Given the description of an element on the screen output the (x, y) to click on. 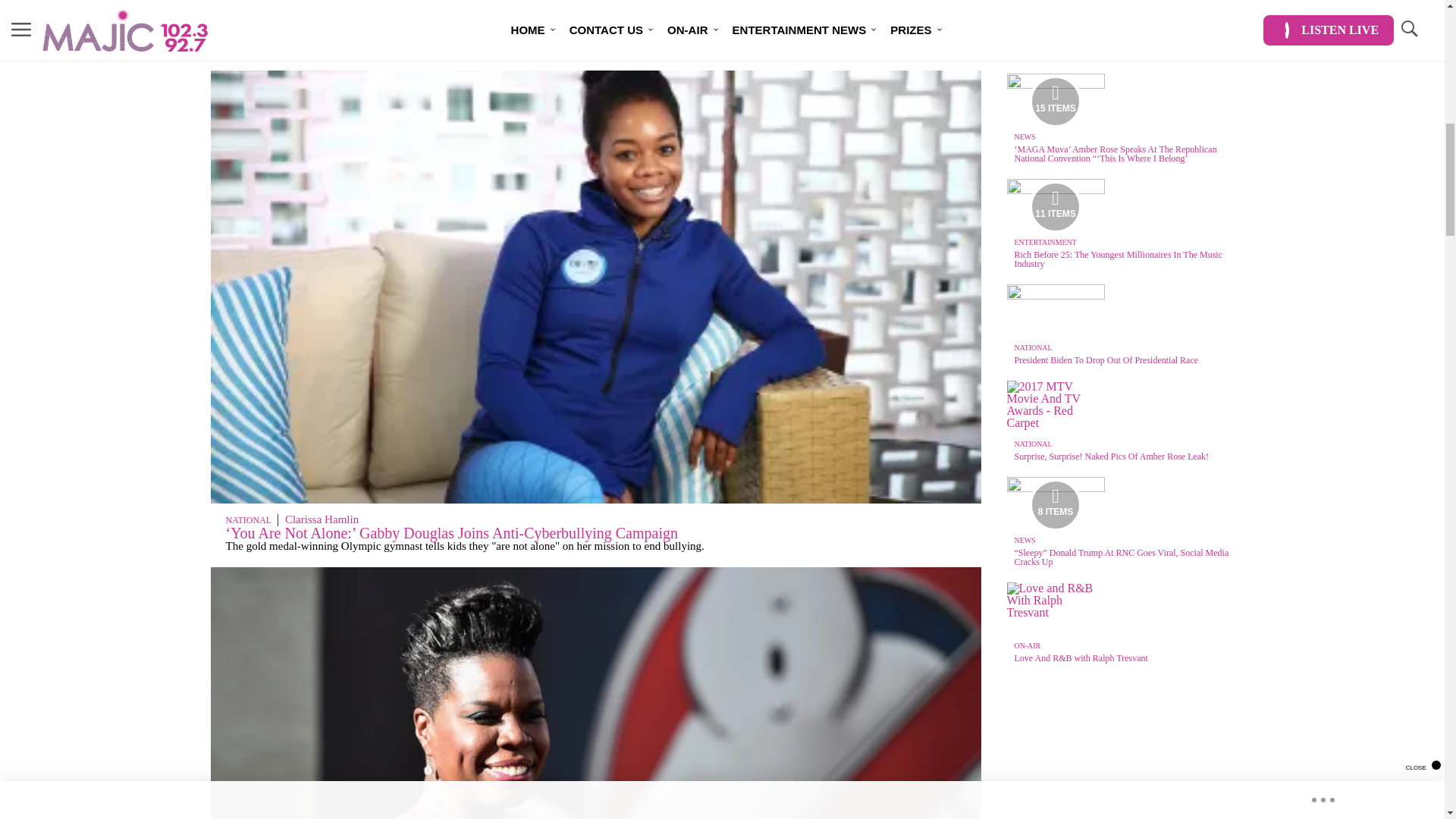
Clarissa Hamlin (321, 519)
NATIONAL (247, 520)
Nigel Roberts (317, 22)
NATIONAL (247, 23)
Media Playlist (1055, 503)
Media Playlist (1055, 206)
Media Playlist (1055, 100)
